Given the description of an element on the screen output the (x, y) to click on. 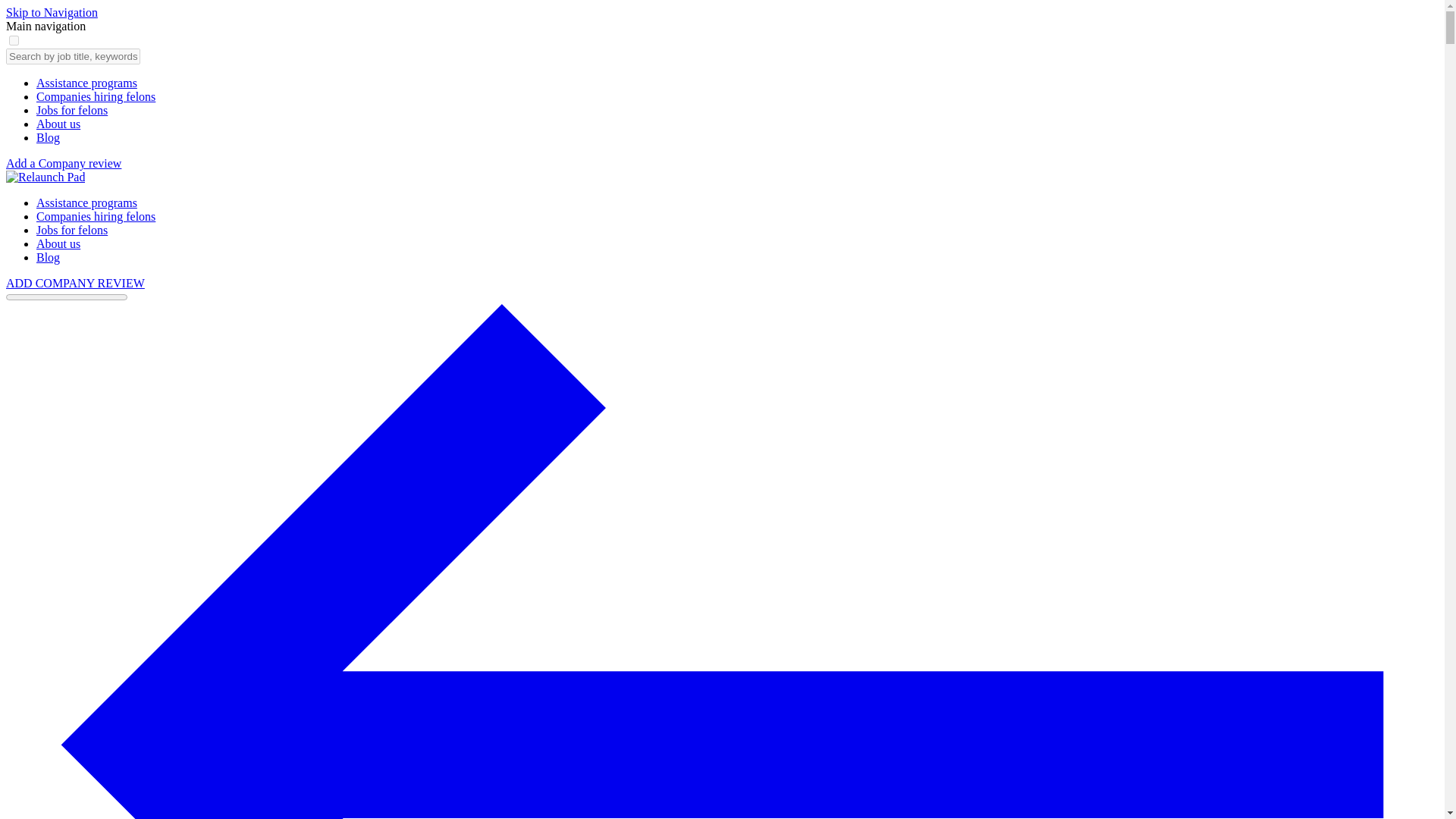
Assistance programs (86, 202)
Add a Company review (62, 163)
Companies hiring felons (95, 215)
Companies hiring felons (95, 96)
Jobs for felons (71, 229)
Jobs for felons (71, 110)
Assistance programs (86, 82)
Blog (47, 256)
Skip to Navigation (51, 11)
Blog (47, 137)
